Given the description of an element on the screen output the (x, y) to click on. 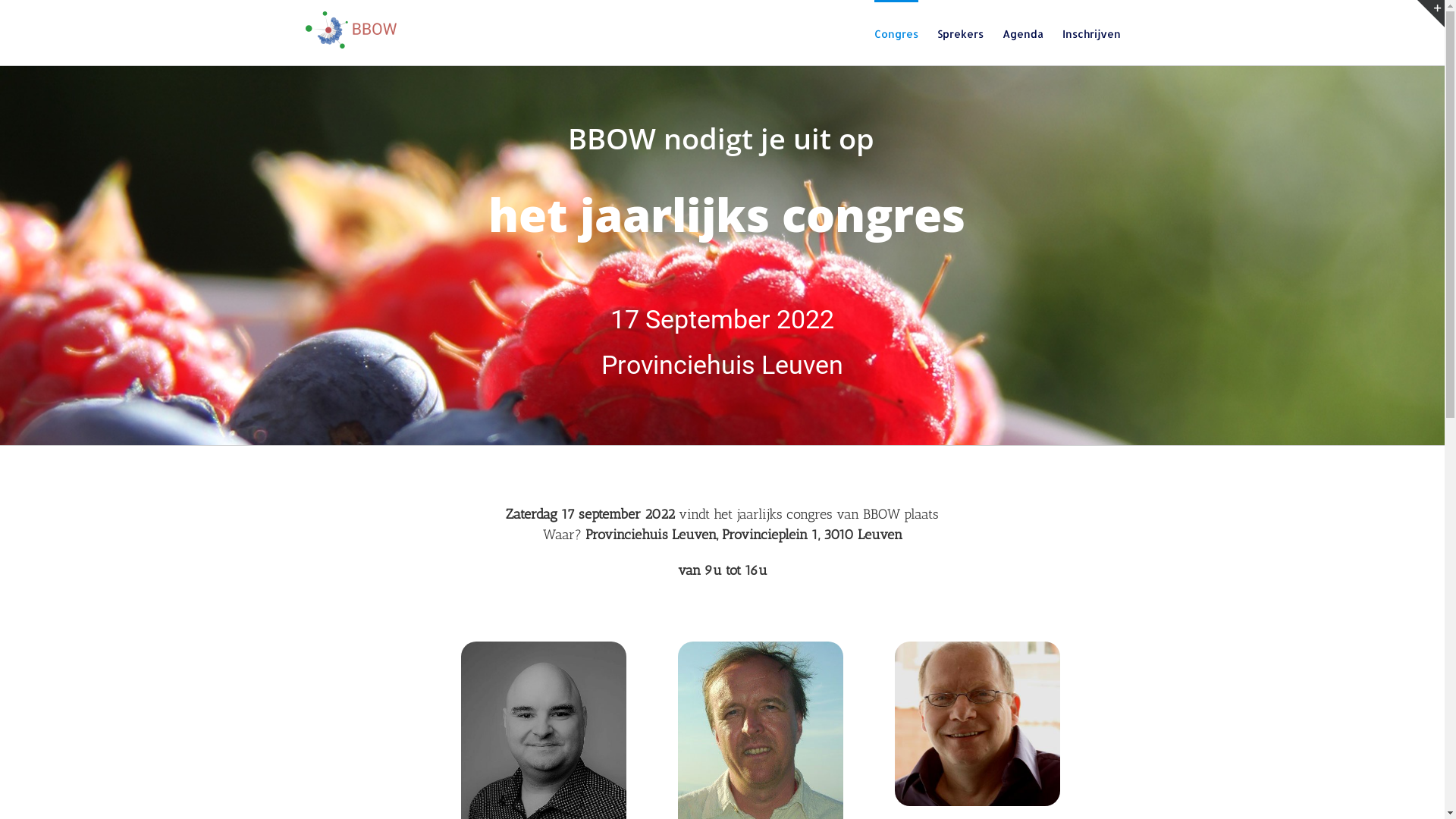
Agenda Element type: text (1022, 32)
Sprekers Element type: text (960, 32)
Congres Element type: text (895, 32)
Inschrijven Element type: text (1090, 32)
Toggle Sliding Bar Area Element type: text (1430, 13)
